Given the description of an element on the screen output the (x, y) to click on. 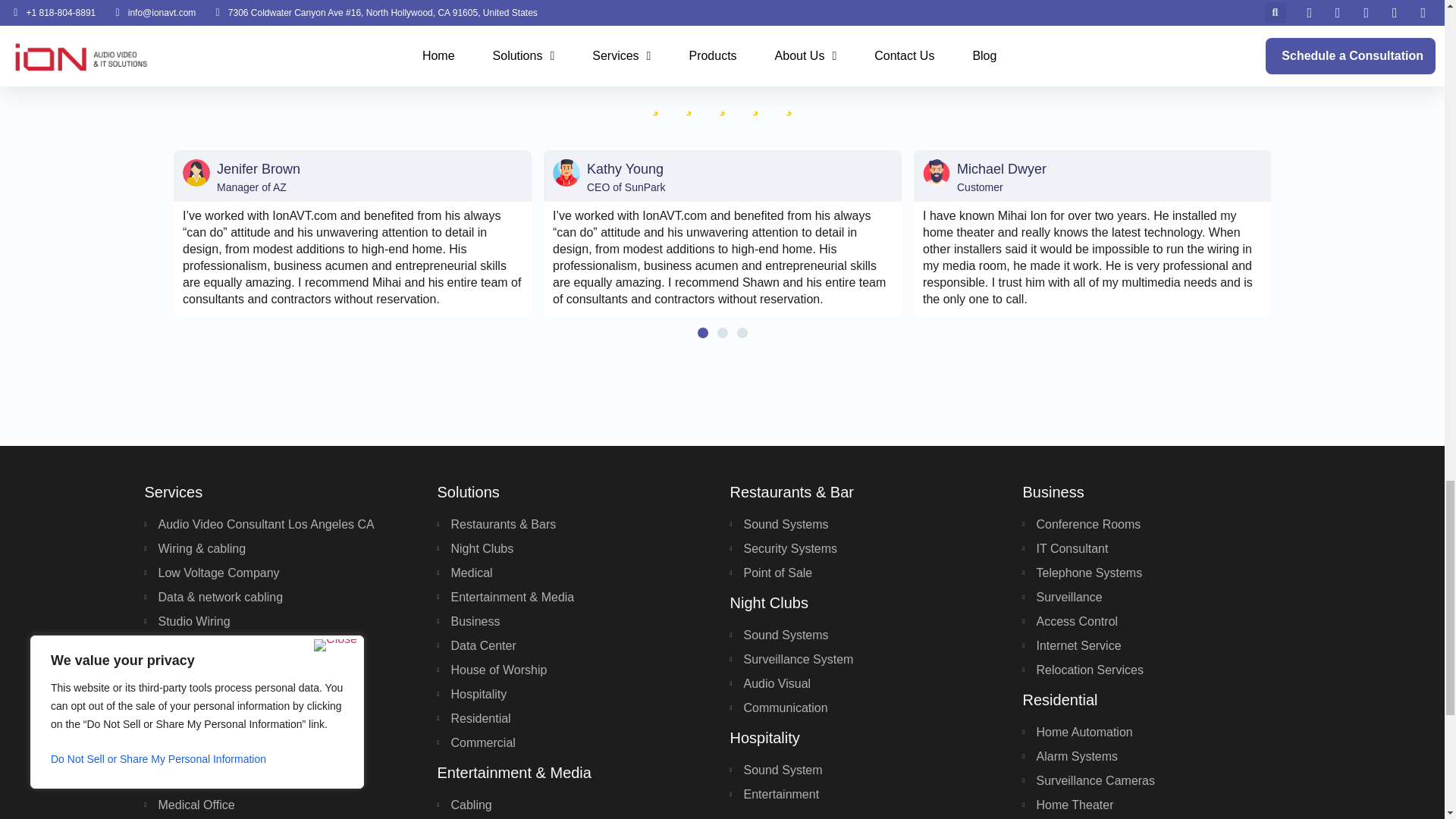
Internet Service 3 (566, 172)
Internet Service 2 (196, 172)
Internet Service 4 (936, 172)
